Given the description of an element on the screen output the (x, y) to click on. 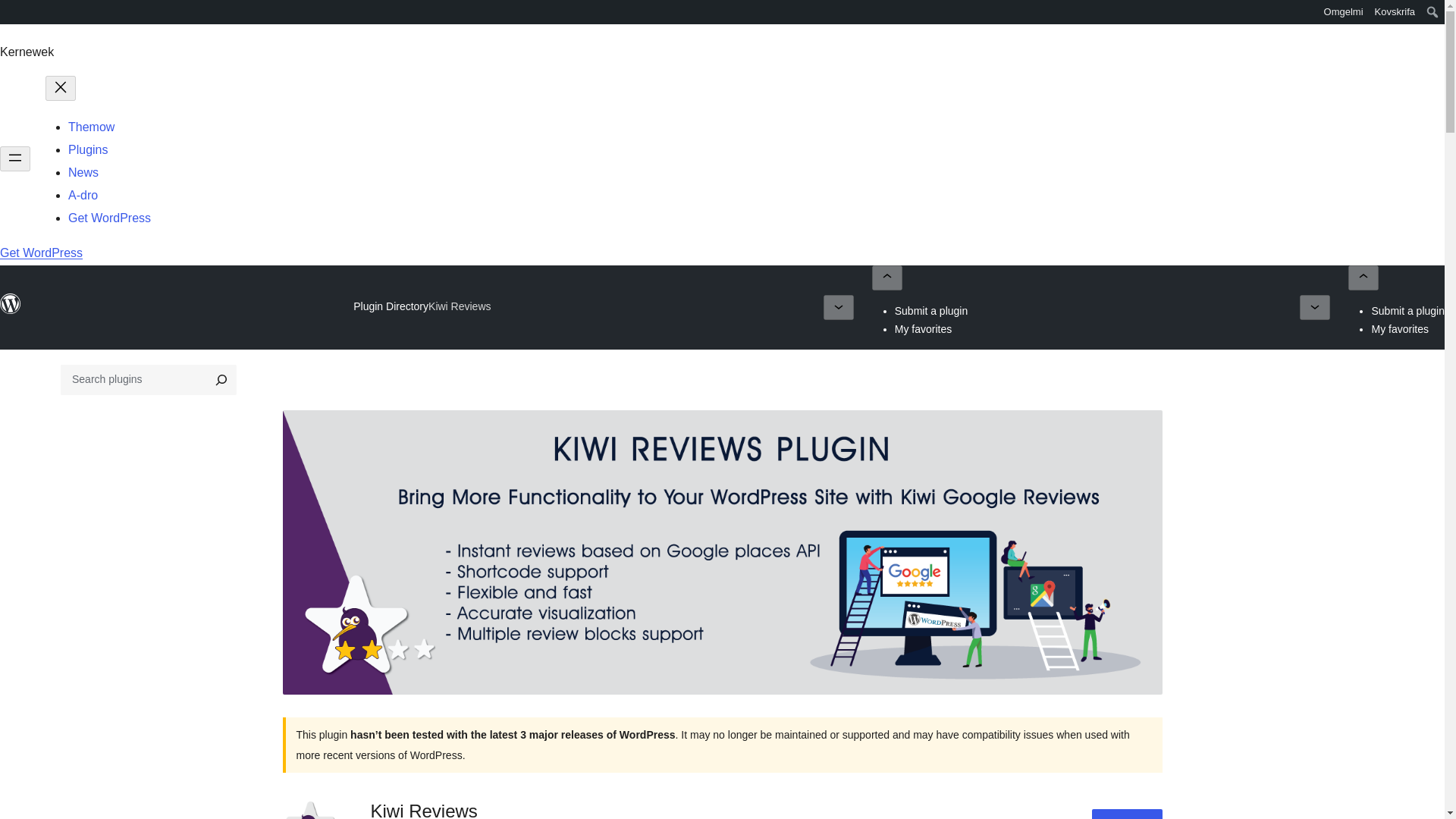
A-dro (82, 195)
Themow (91, 126)
Kovskrifa (1395, 12)
WordPress.org (10, 16)
Submit a plugin (931, 310)
My favorites (1399, 328)
Plugins (87, 149)
WordPress.org (10, 303)
Download (1126, 814)
WordPress.org (10, 310)
News (83, 172)
WordPress.org (10, 10)
Plugin Directory (390, 306)
Get WordPress (41, 252)
Hwilas (16, 13)
